Given the description of an element on the screen output the (x, y) to click on. 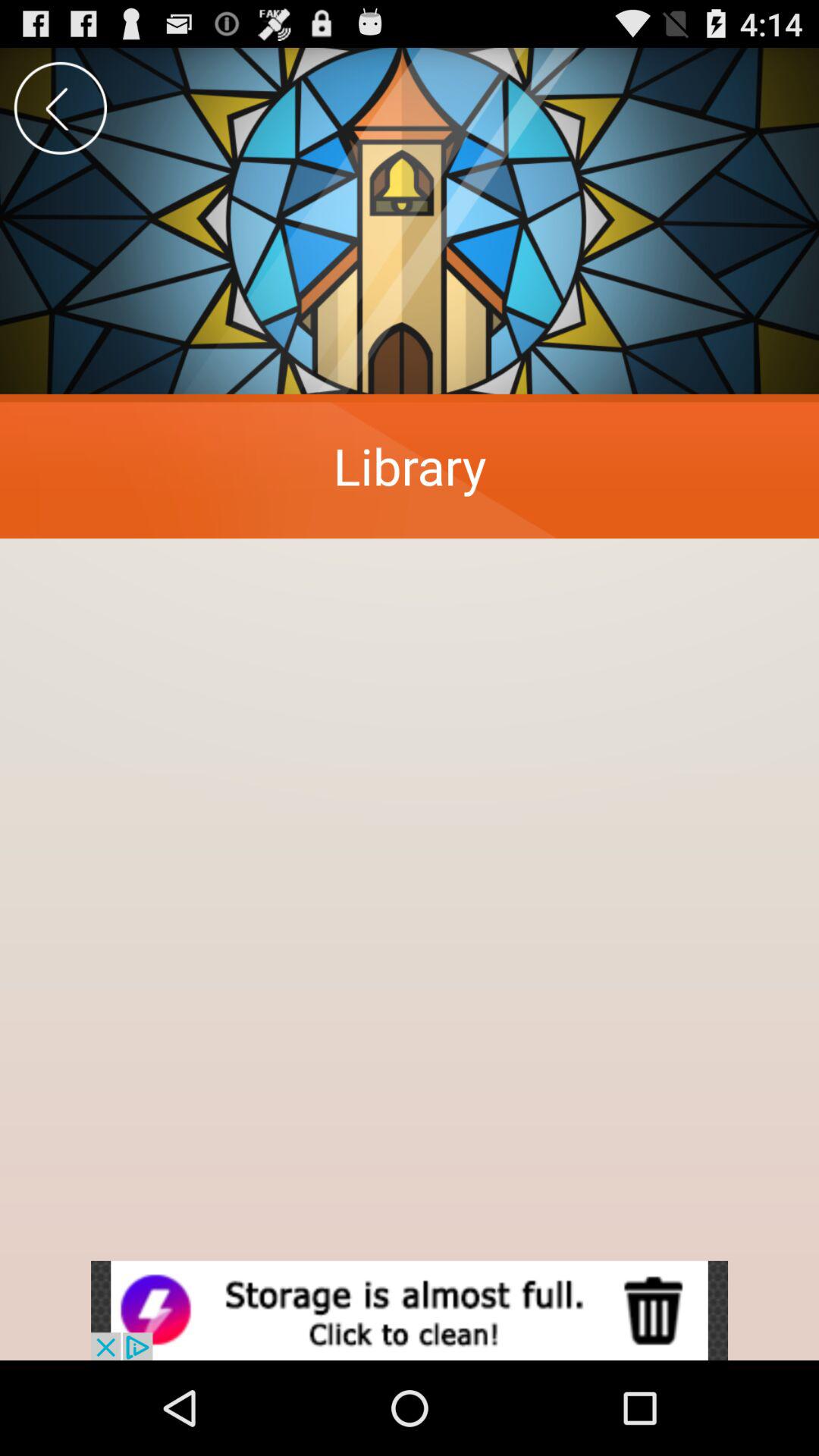
open an advertisement (409, 1310)
